Given the description of an element on the screen output the (x, y) to click on. 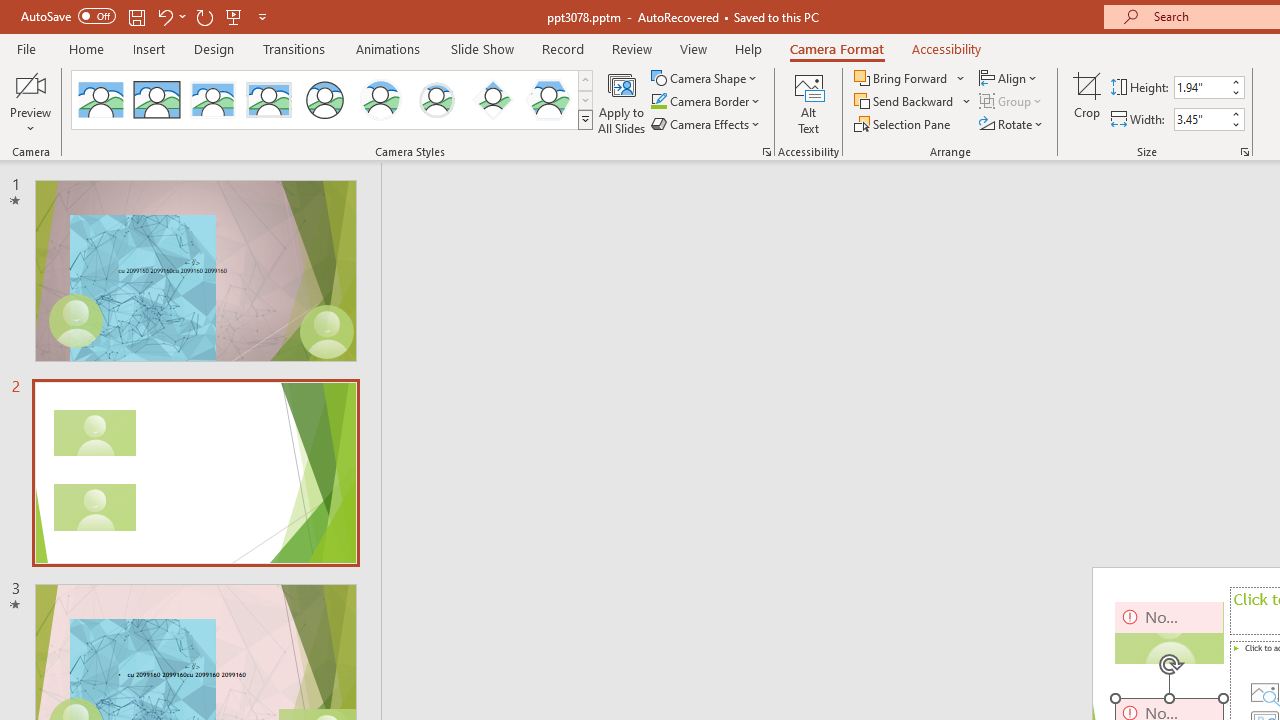
Cameo Width (1201, 119)
Camera Styles (585, 120)
Crop (1087, 102)
Size and Position... (1244, 151)
Apply to All Slides (621, 102)
